Given the description of an element on the screen output the (x, y) to click on. 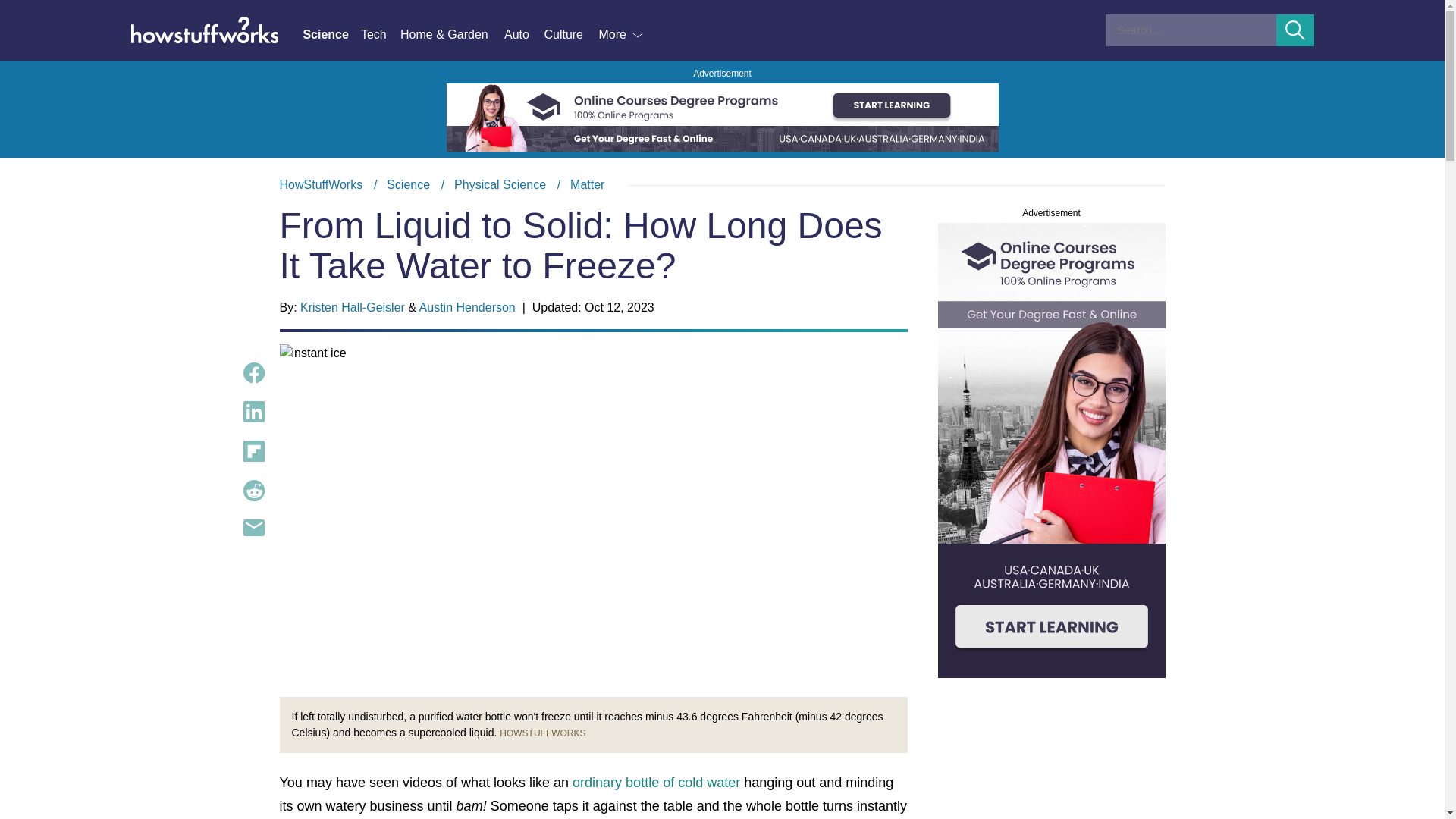
Share Content on Facebook (253, 372)
Submit Search (1295, 29)
Share Content via Email (253, 527)
Science (330, 34)
Tech (380, 34)
Science (408, 184)
Share Content on Reddit (253, 490)
Share Content on LinkedIn (253, 411)
HowStuffWorks (320, 184)
Physical Science (500, 184)
